Given the description of an element on the screen output the (x, y) to click on. 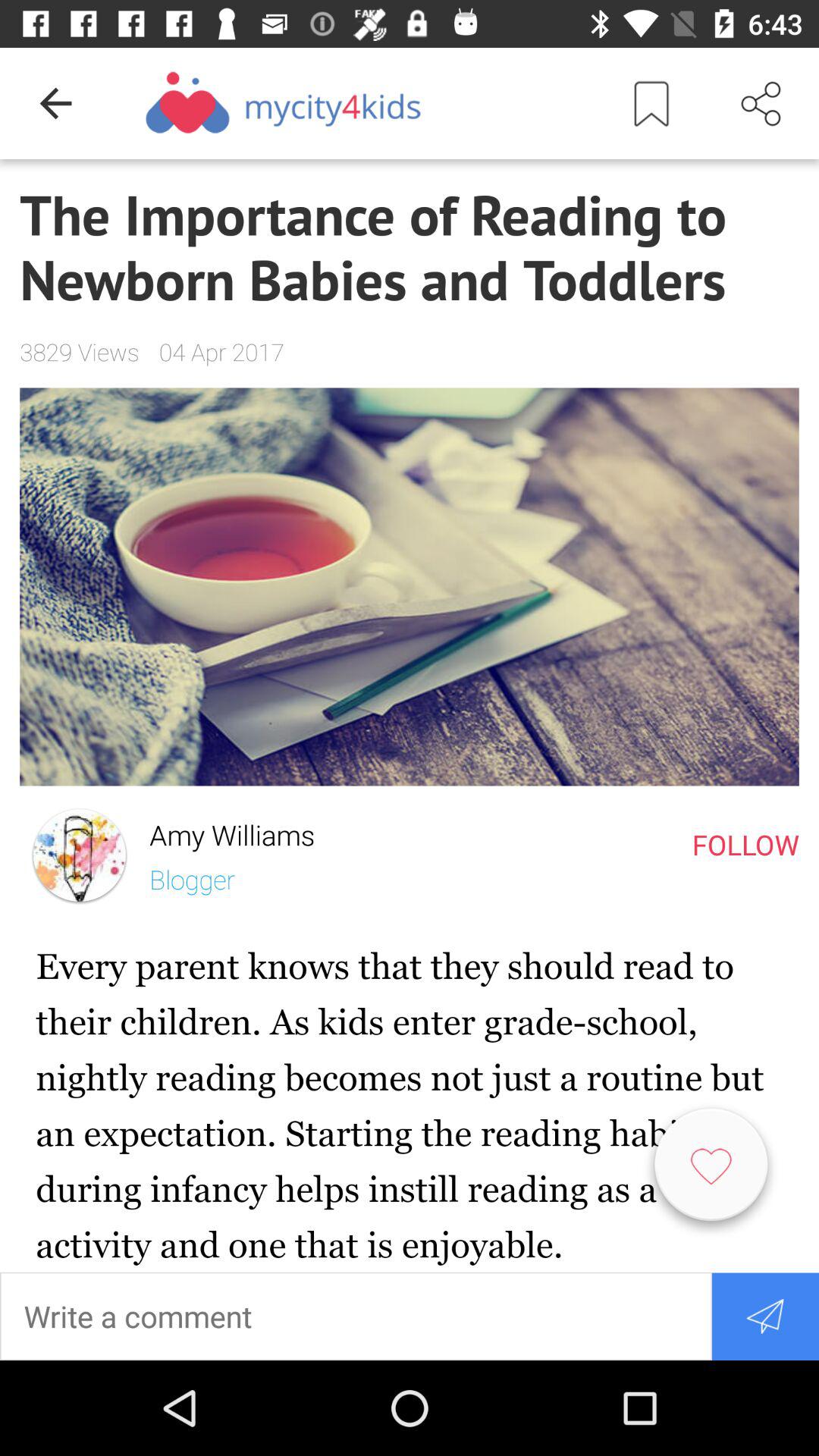
flip to the follow item (745, 844)
